Given the description of an element on the screen output the (x, y) to click on. 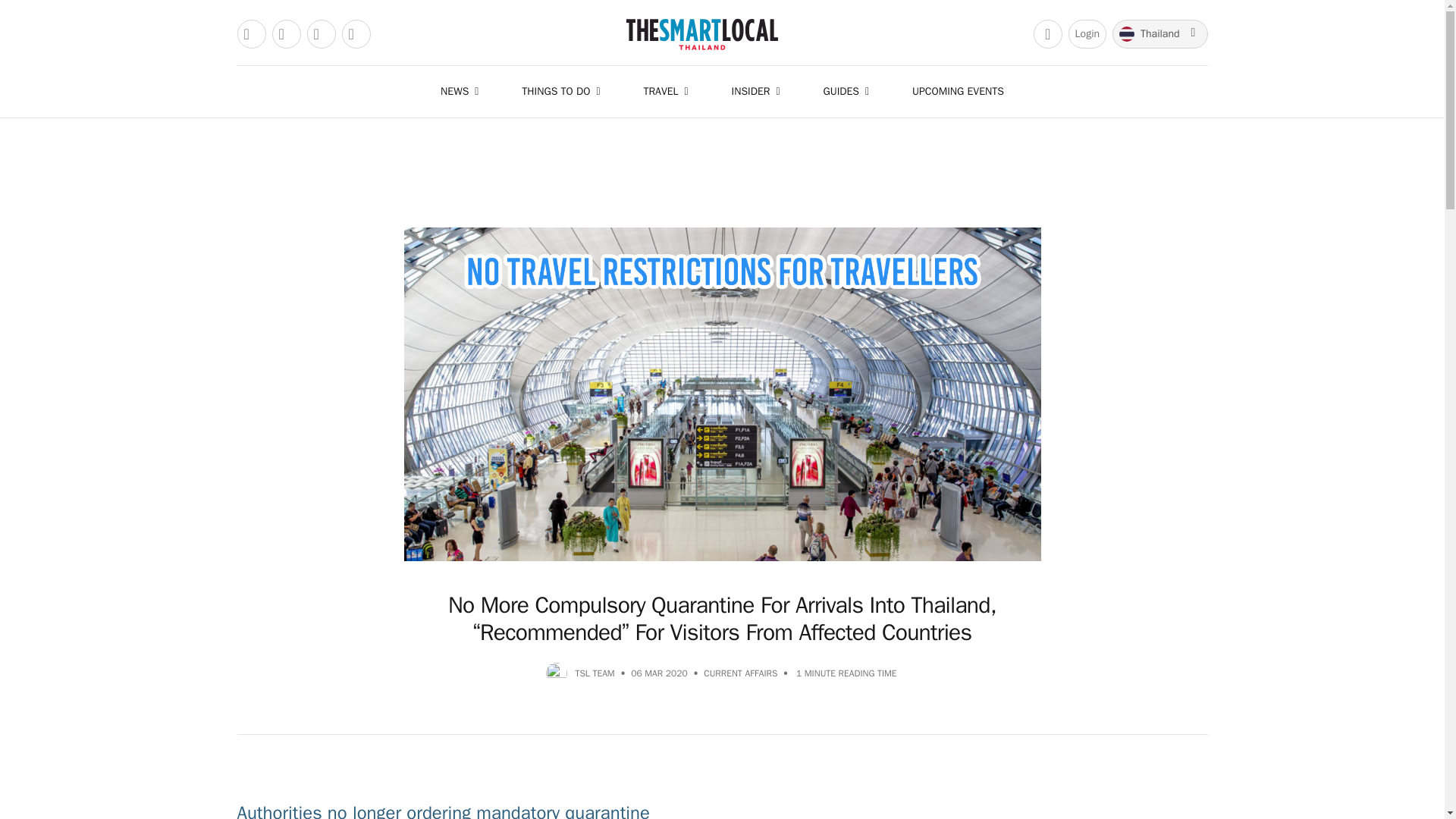
THINGS TO DO (563, 91)
Thailand (1159, 33)
NEWS (462, 91)
Posts by TSL Team (594, 673)
Login (1087, 33)
Open search popup (1047, 33)
